Given the description of an element on the screen output the (x, y) to click on. 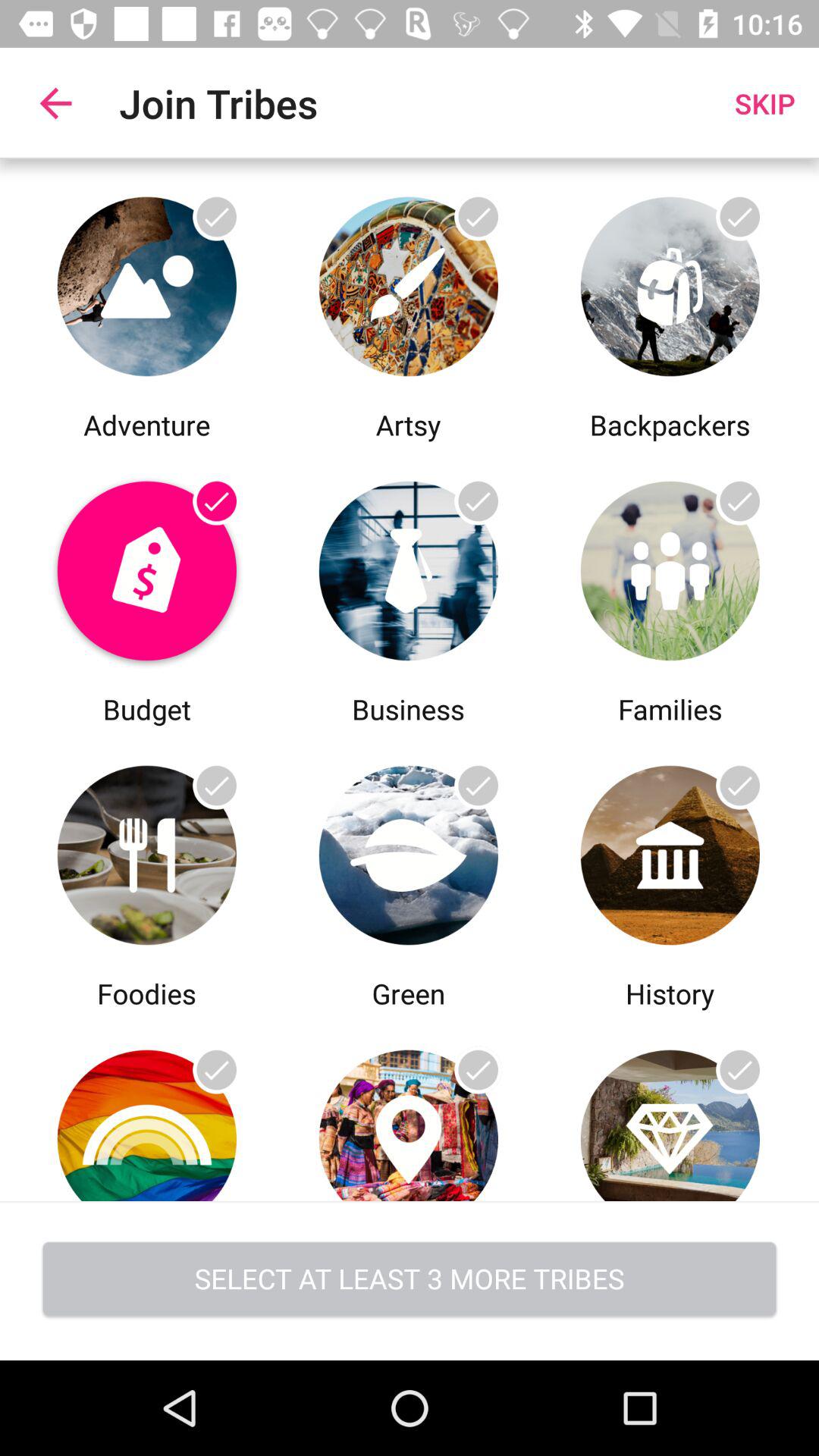
business category (408, 566)
